Given the description of an element on the screen output the (x, y) to click on. 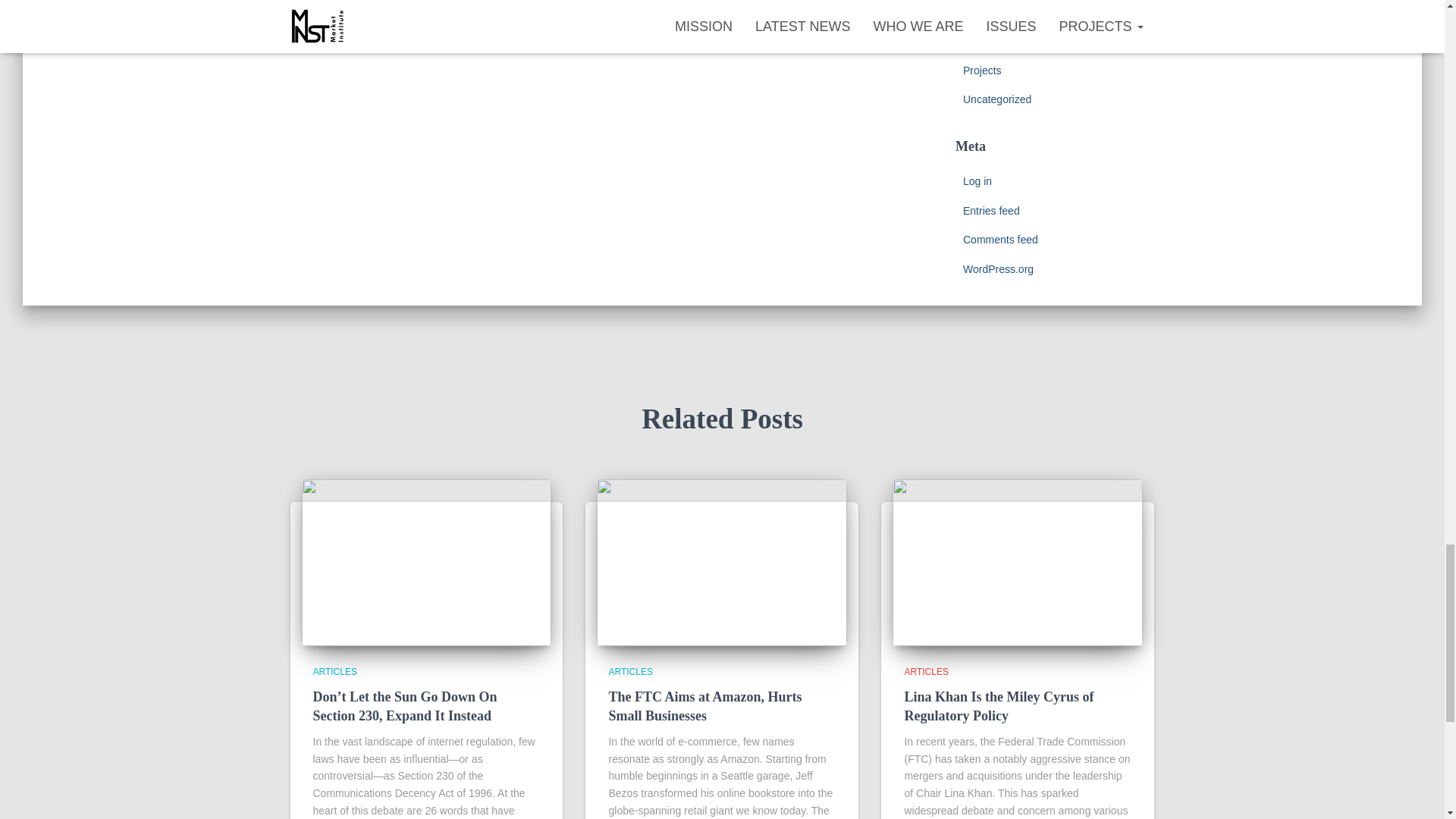
Lina Khan Is the Miley Cyrus of Regulatory Policy (998, 706)
The FTC Aims at Amazon, Hurts Small Businesses (721, 562)
View all posts in Articles (925, 671)
View all posts in Articles (334, 671)
The FTC Aims at Amazon, Hurts Small Businesses (705, 706)
View all posts in Articles (630, 671)
Lina Khan Is the Miley Cyrus of Regulatory Policy (1017, 562)
